Given the description of an element on the screen output the (x, y) to click on. 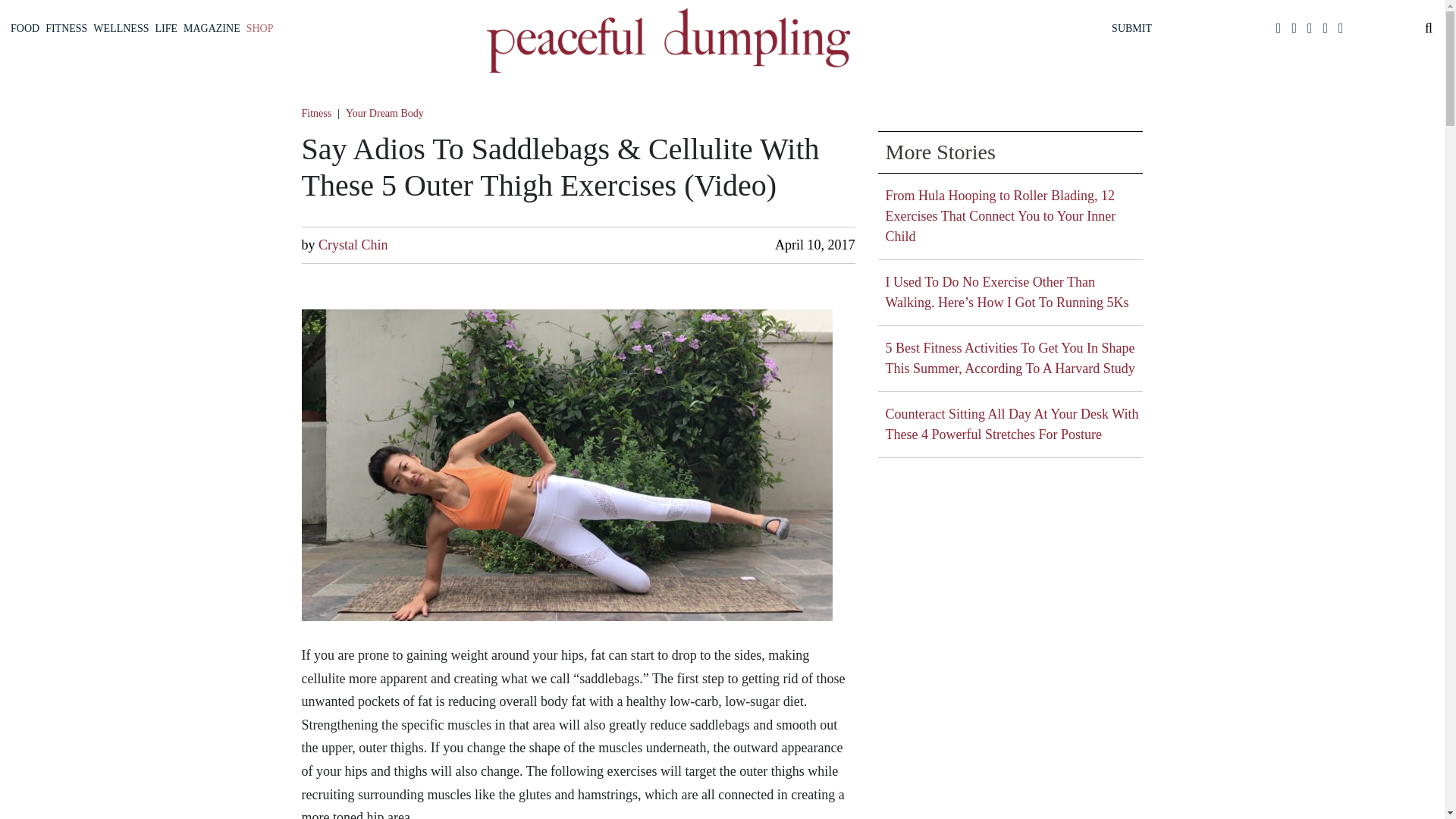
WELLNESS (120, 28)
